Given the description of an element on the screen output the (x, y) to click on. 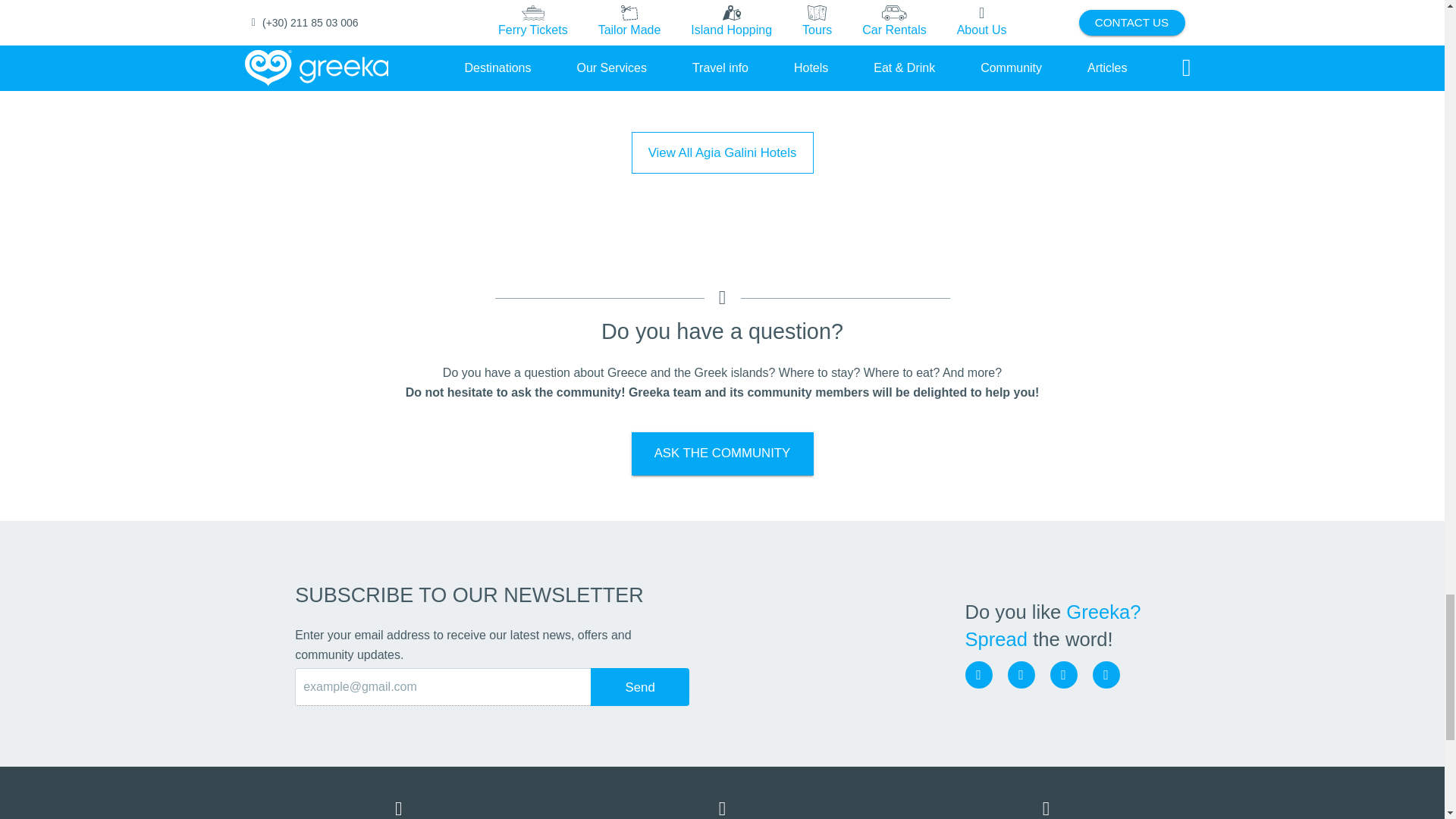
ASK THE COMMUNITY (721, 453)
Send (639, 686)
Instagram (1020, 674)
Carme (414, 62)
Pinterest (1105, 674)
Carme (414, 62)
Facebook (977, 674)
Twitter (1063, 674)
View All Agia Galini Hotels (721, 152)
